Given the description of an element on the screen output the (x, y) to click on. 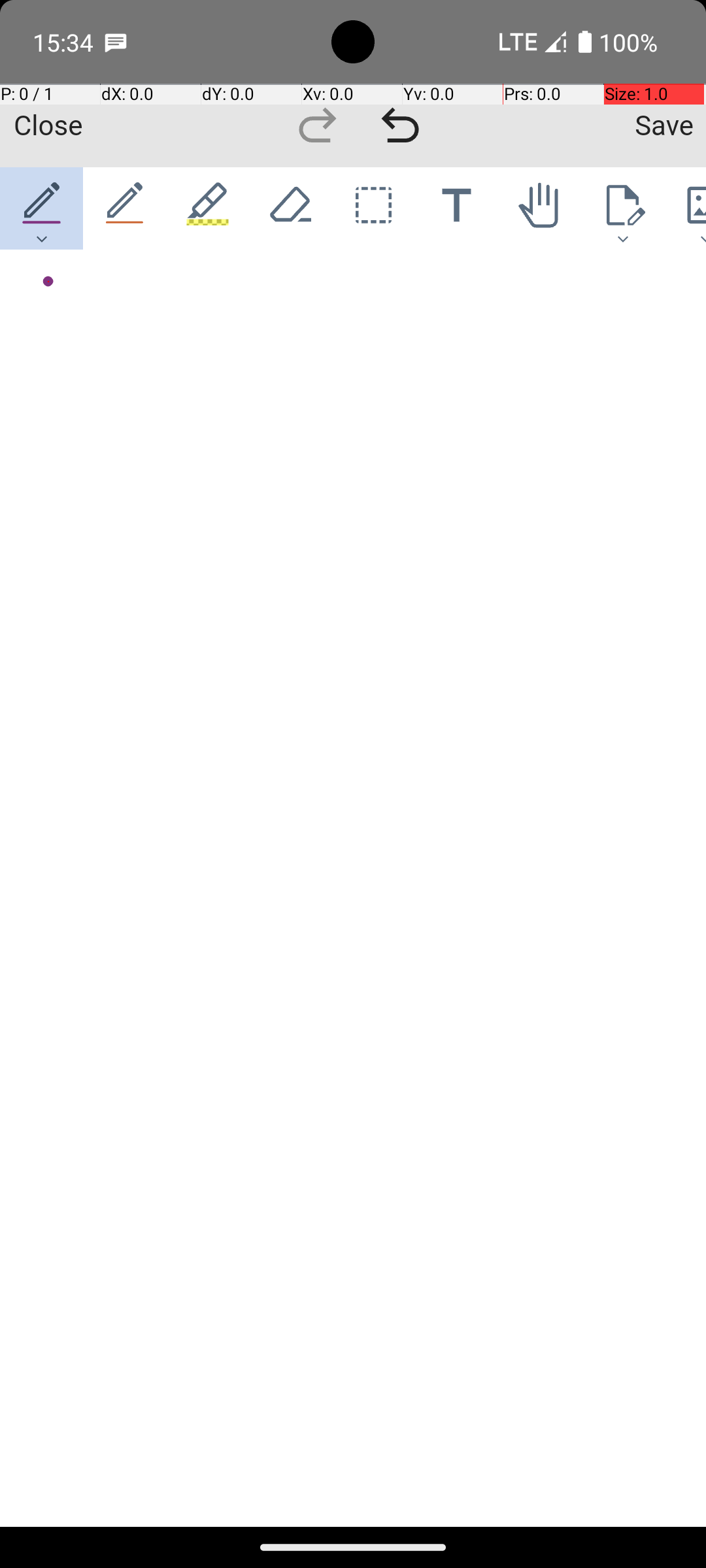
Added Stroke Element type: android.widget.TextView (40, 281)
Re-render as text Element type: android.widget.Button (47, 308)
Enable sound-based exploration Element type: android.widget.Button (70, 309)
Pen 1 Element type: android.widget.ToggleButton (41, 208)
Pen 2 Element type: android.widget.Button (125, 208)
Pen 3 Element type: android.widget.Button (207, 208)
Pan Element type: android.widget.Button (540, 208)
Page Element type: android.widget.Button (622, 208)
